Given the description of an element on the screen output the (x, y) to click on. 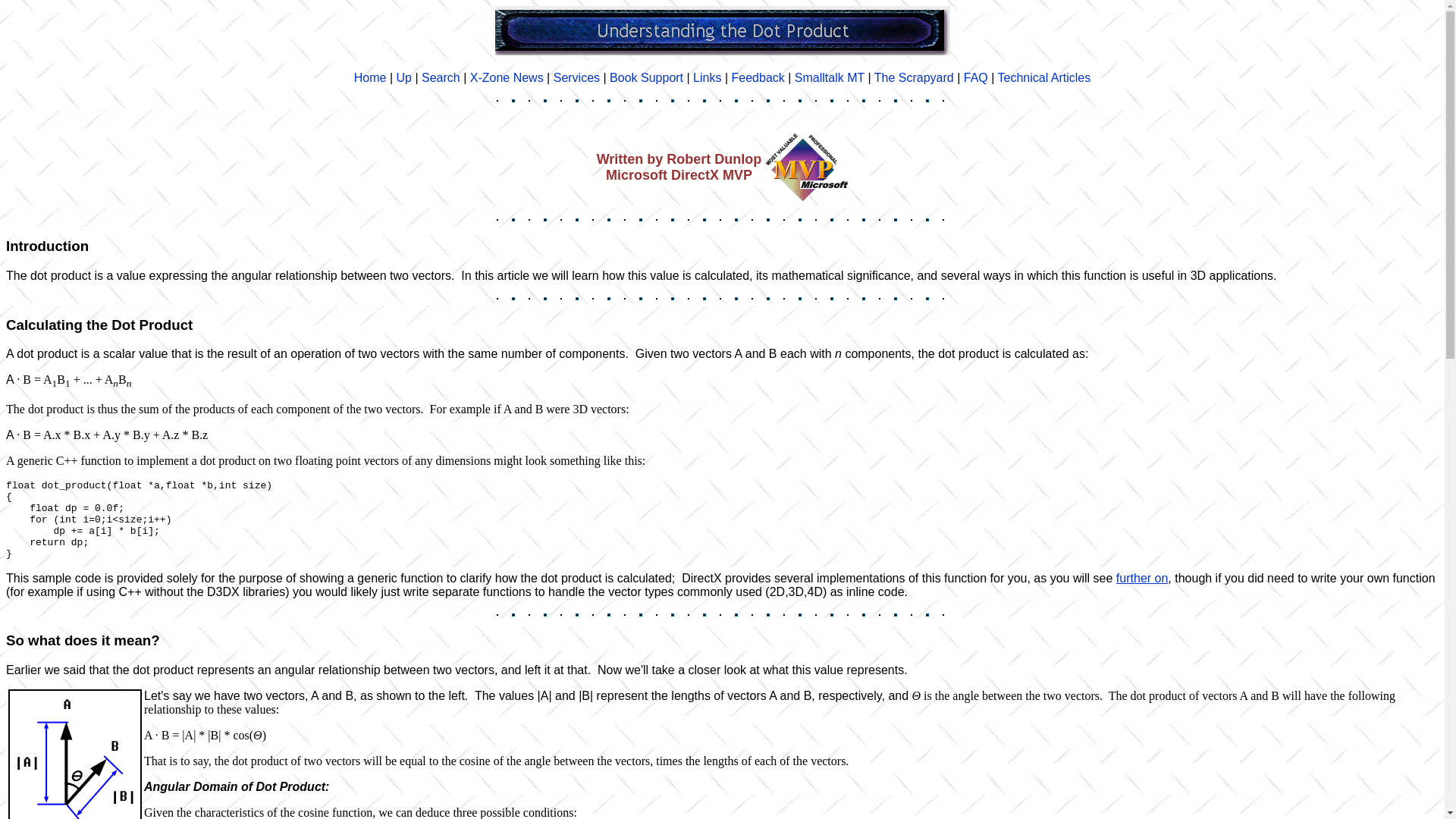
Feedback (758, 77)
Links (706, 77)
Search (441, 77)
further on (1141, 577)
Book Support (646, 77)
Home (370, 77)
Services (576, 77)
X-Zone News (506, 77)
The Scrapyard (914, 77)
Smalltalk MT (829, 77)
